Given the description of an element on the screen output the (x, y) to click on. 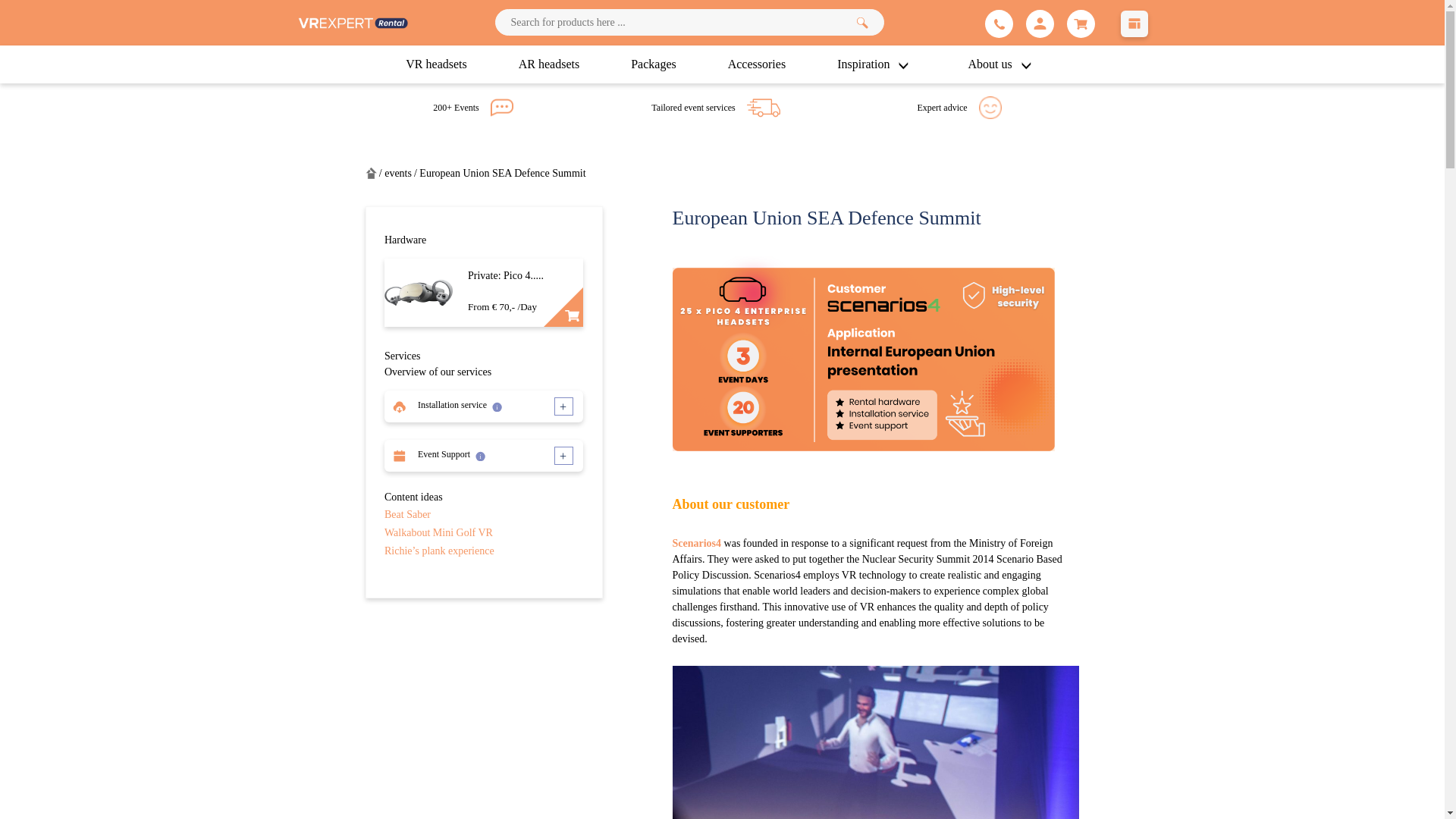
i (497, 406)
Search for products here ... (689, 22)
About us (1003, 64)
Packages (653, 64)
Accessories (757, 64)
i (480, 456)
VR headsets (435, 64)
Inspiration (876, 64)
AR headsets (548, 64)
